Given the description of an element on the screen output the (x, y) to click on. 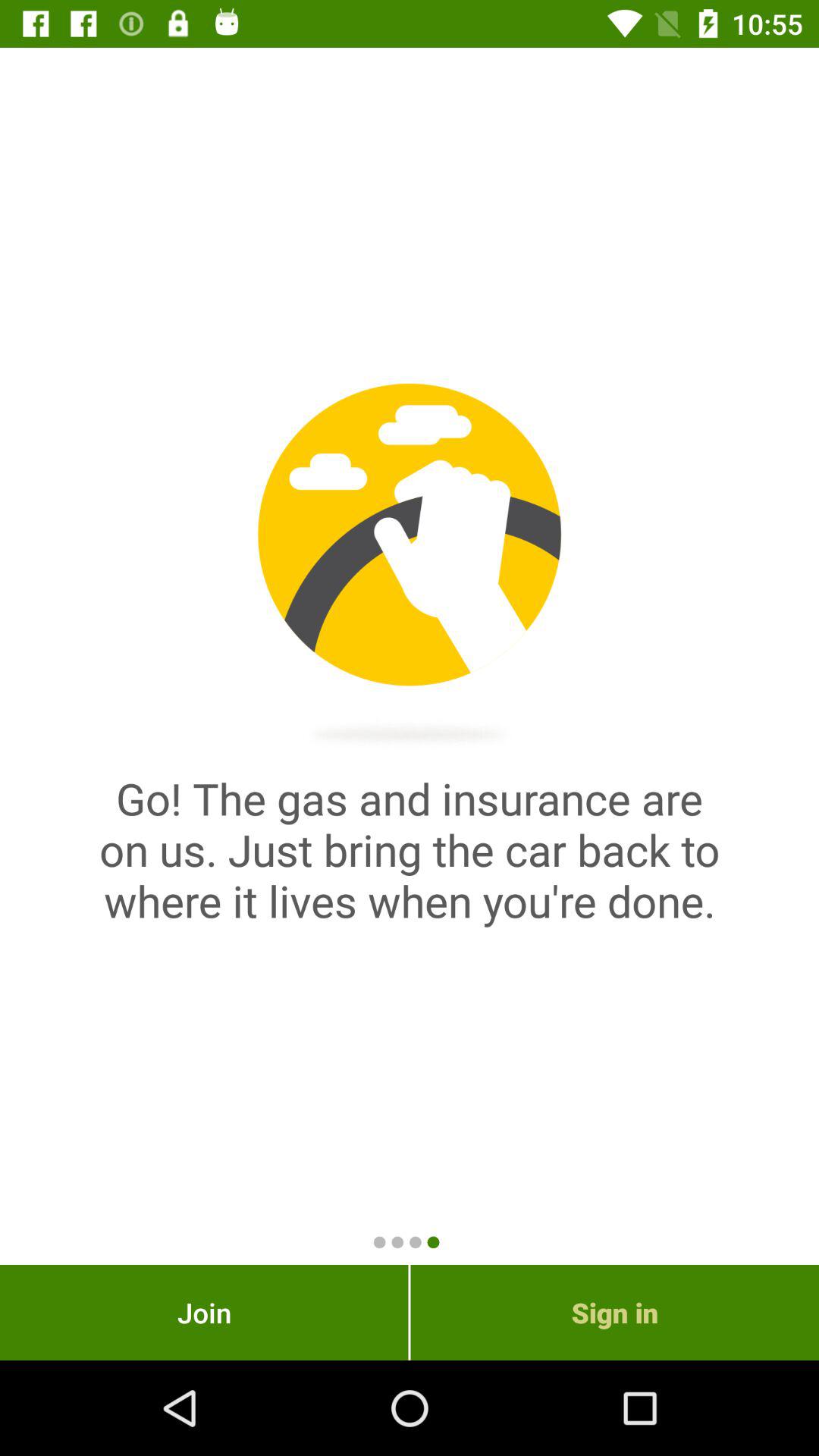
choose the sign in icon (614, 1312)
